Given the description of an element on the screen output the (x, y) to click on. 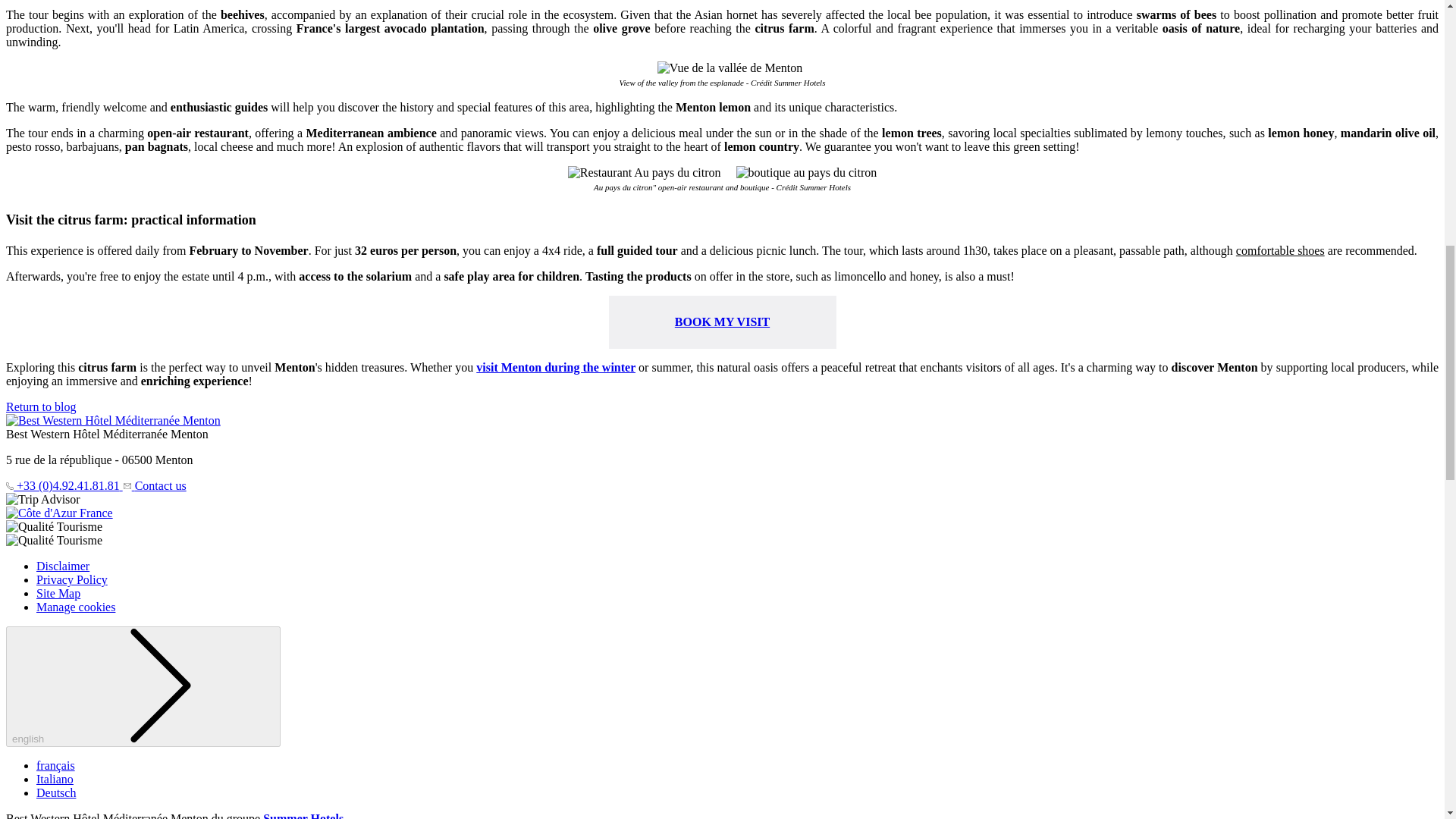
Return to blog (40, 406)
Deutsch (55, 792)
english (143, 686)
Manage cookies (75, 606)
Site Map (58, 593)
Italiano (55, 779)
Summer Hotels (303, 815)
visit Menton during the winter (555, 367)
Privacy Policy (71, 579)
BOOK MY VISIT (722, 321)
Disclaimer (62, 565)
Contact us (154, 485)
